Given the description of an element on the screen output the (x, y) to click on. 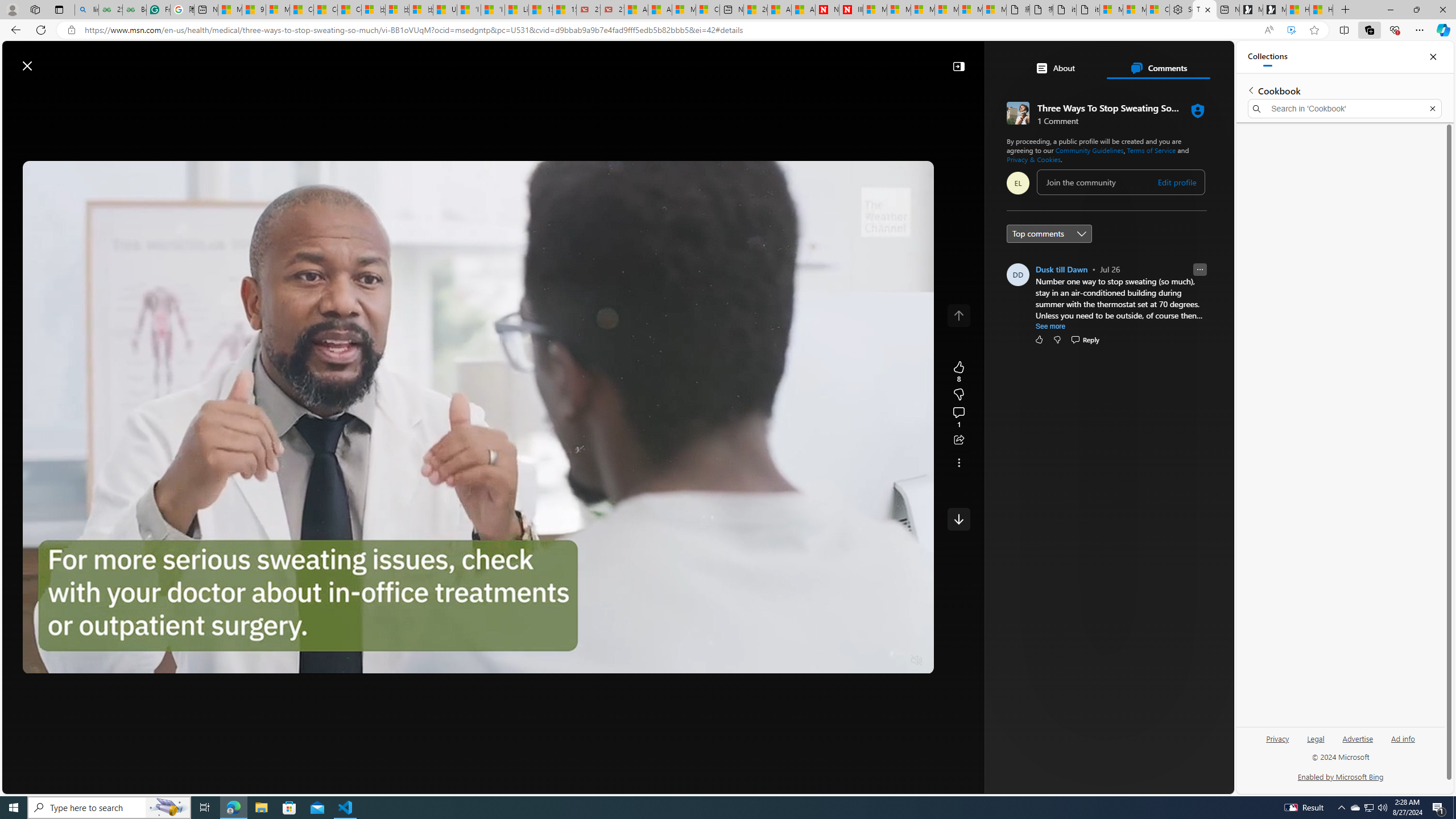
itconcepthk.com/projector_solutions.mp4 (1088, 9)
Consumer Health Data Privacy Policy (1157, 9)
USA TODAY - MSN (444, 9)
Class: at-item detail-page (958, 462)
